Given the description of an element on the screen output the (x, y) to click on. 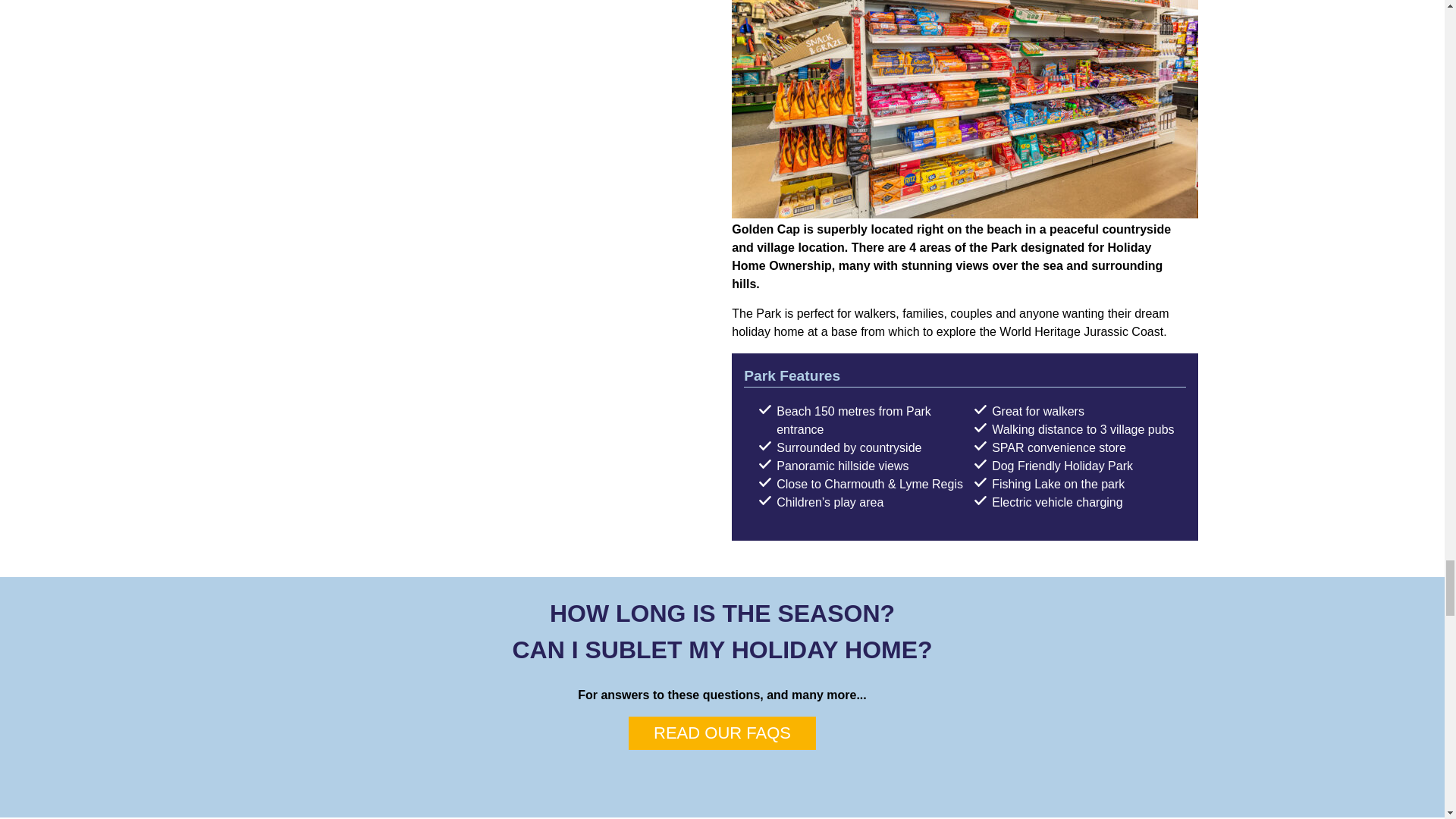
READ OUR FAQS (721, 733)
